Given the description of an element on the screen output the (x, y) to click on. 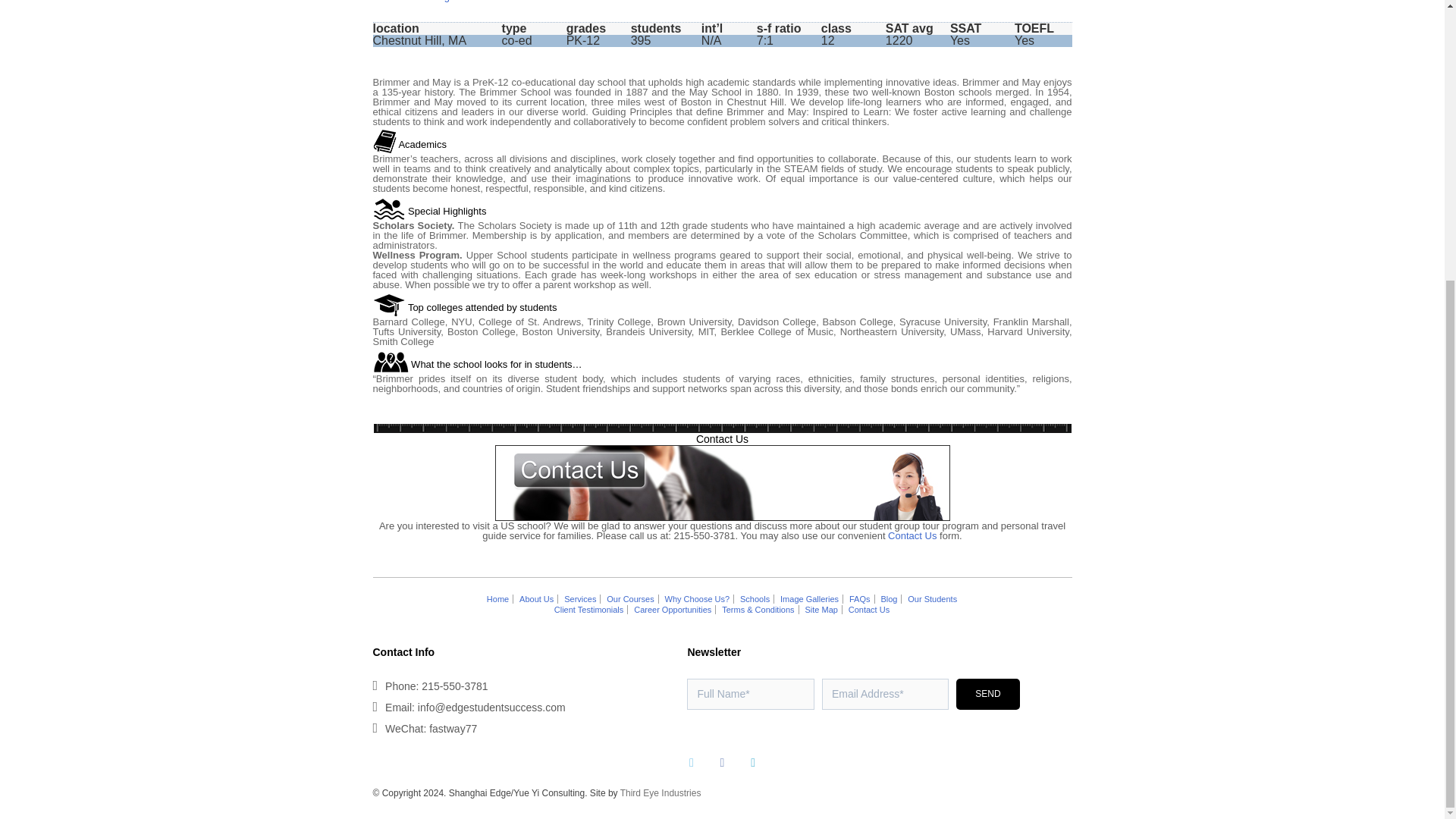
Send (987, 694)
